Given the description of an element on the screen output the (x, y) to click on. 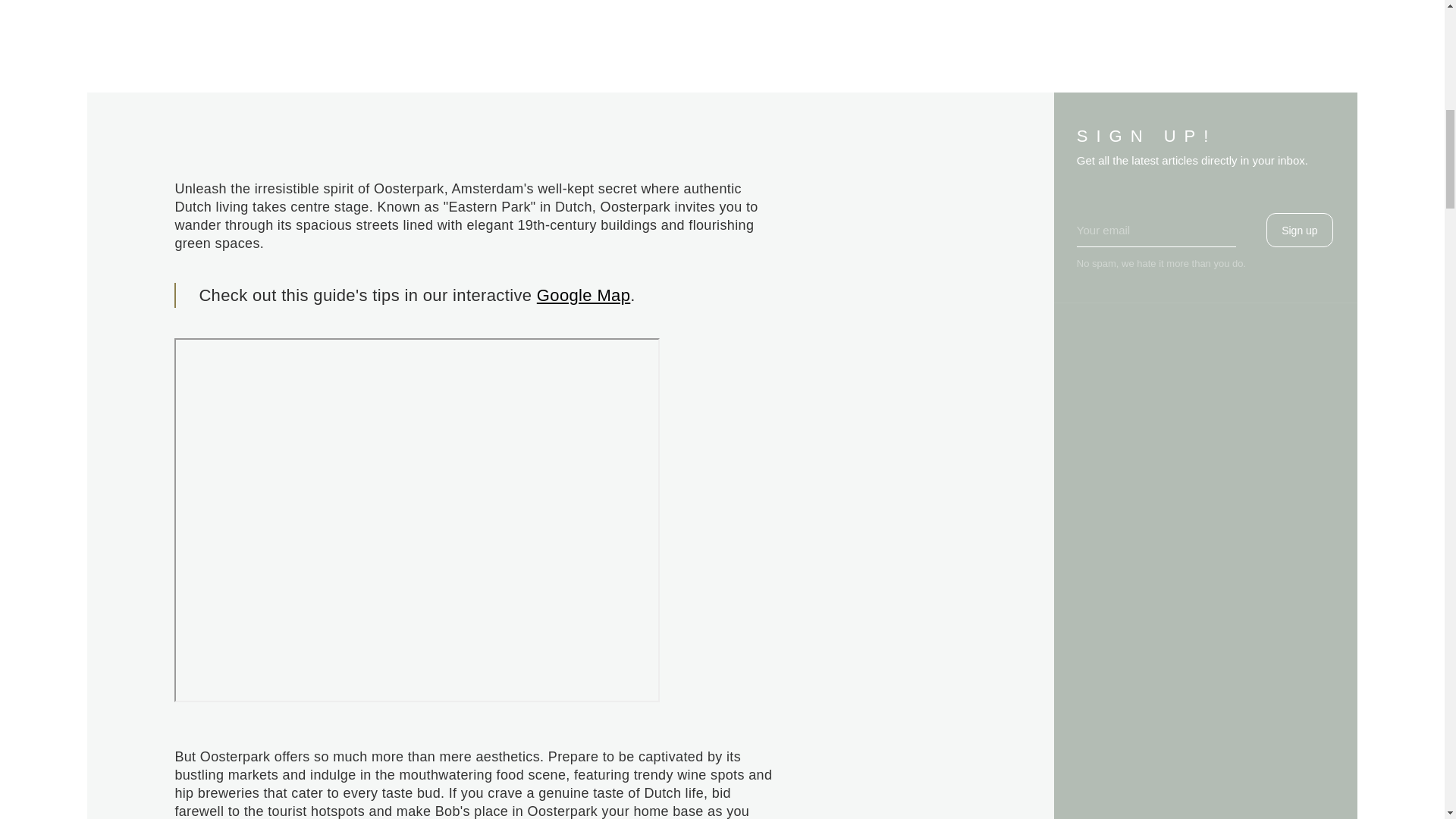
Google Map (583, 294)
Sign up (1299, 229)
Sign up (1299, 229)
